Given the description of an element on the screen output the (x, y) to click on. 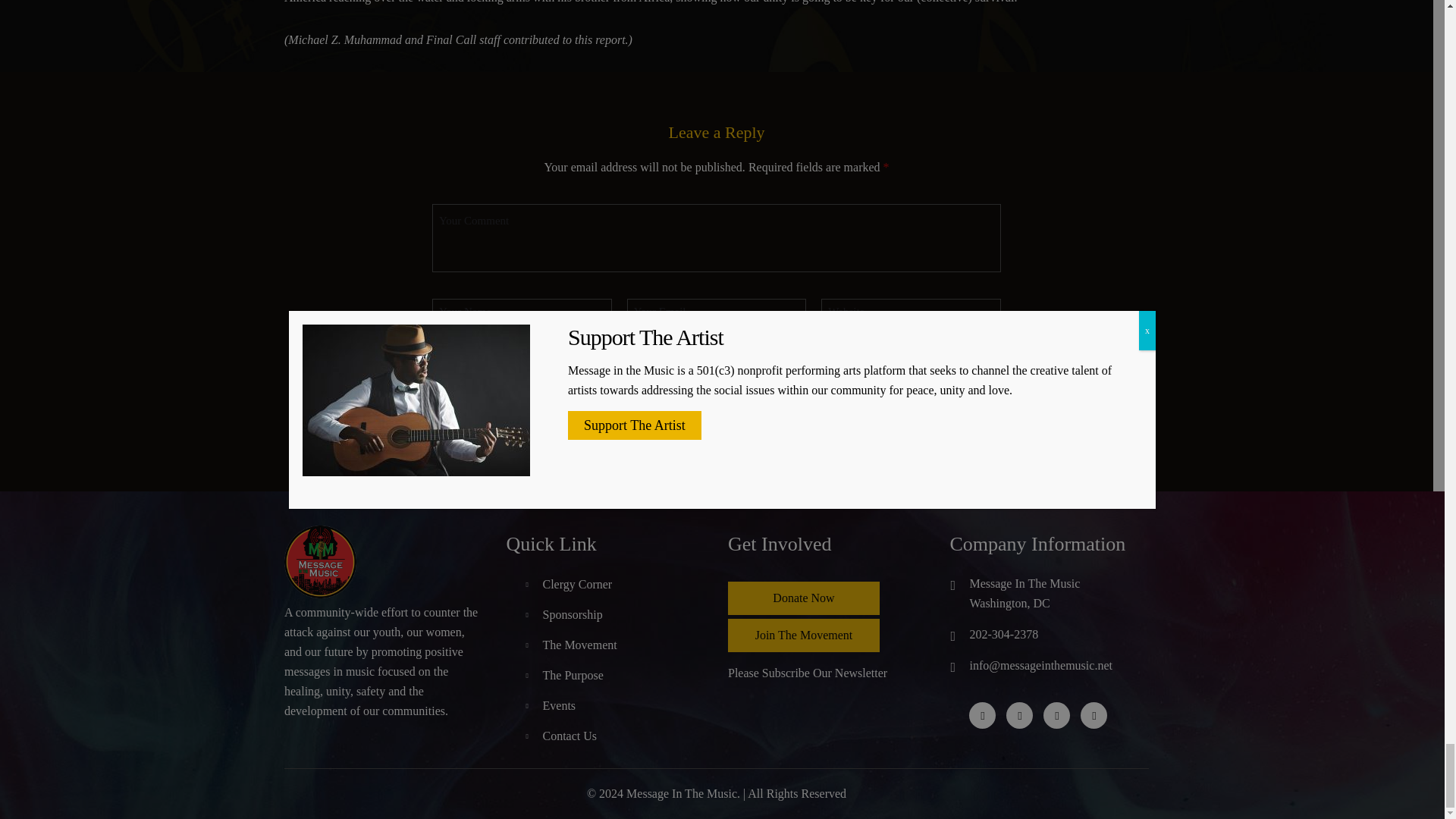
yes (518, 360)
